Given the description of an element on the screen output the (x, y) to click on. 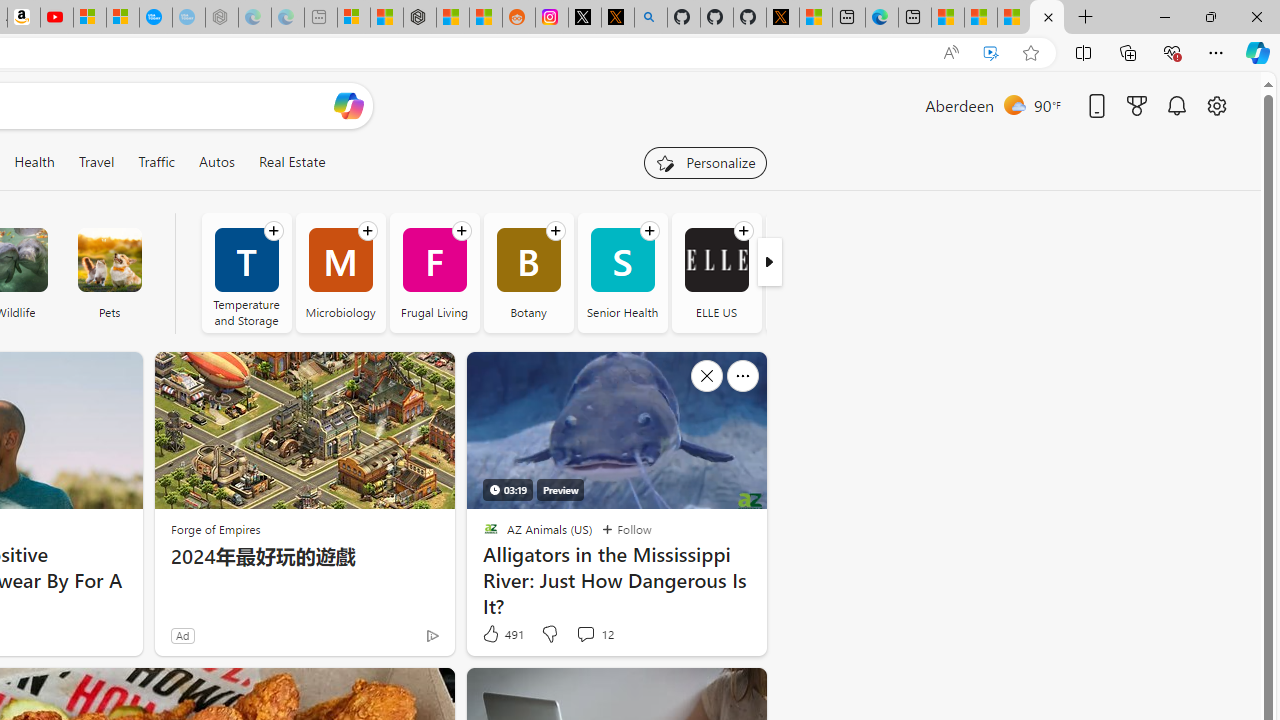
Botany (527, 272)
Nordace - Nordace has arrived Hong Kong - Sleeping (222, 17)
